Given the description of an element on the screen output the (x, y) to click on. 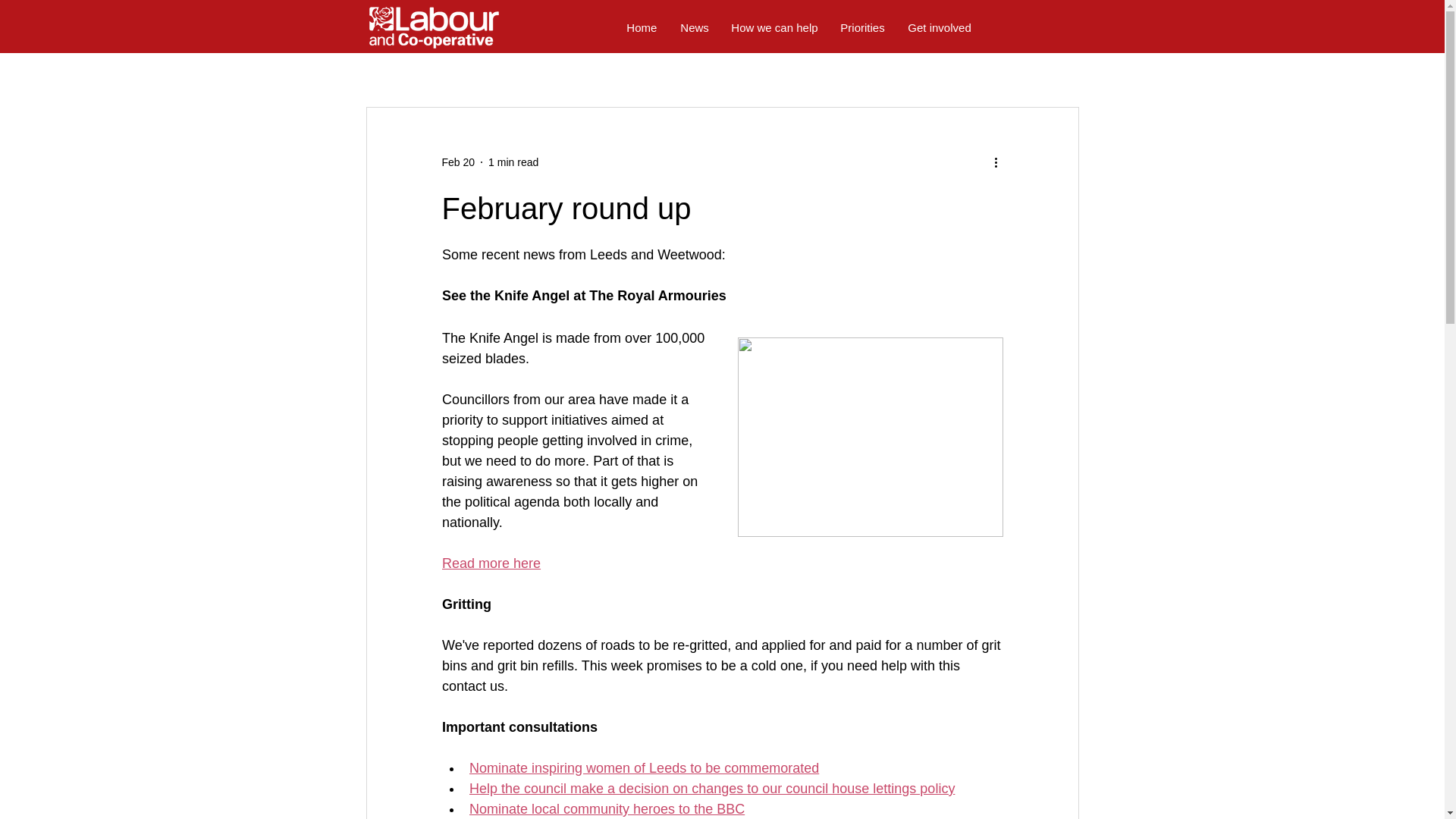
Nominate inspiring women of Leeds to be commemorated (643, 767)
Feb 20 (457, 162)
Nominate local community heroes to the BBC (606, 808)
Priorities (862, 28)
1 min read (512, 162)
Get involved (940, 28)
Read more here (490, 563)
Home (641, 28)
How we can help (773, 28)
News (693, 28)
